Given the description of an element on the screen output the (x, y) to click on. 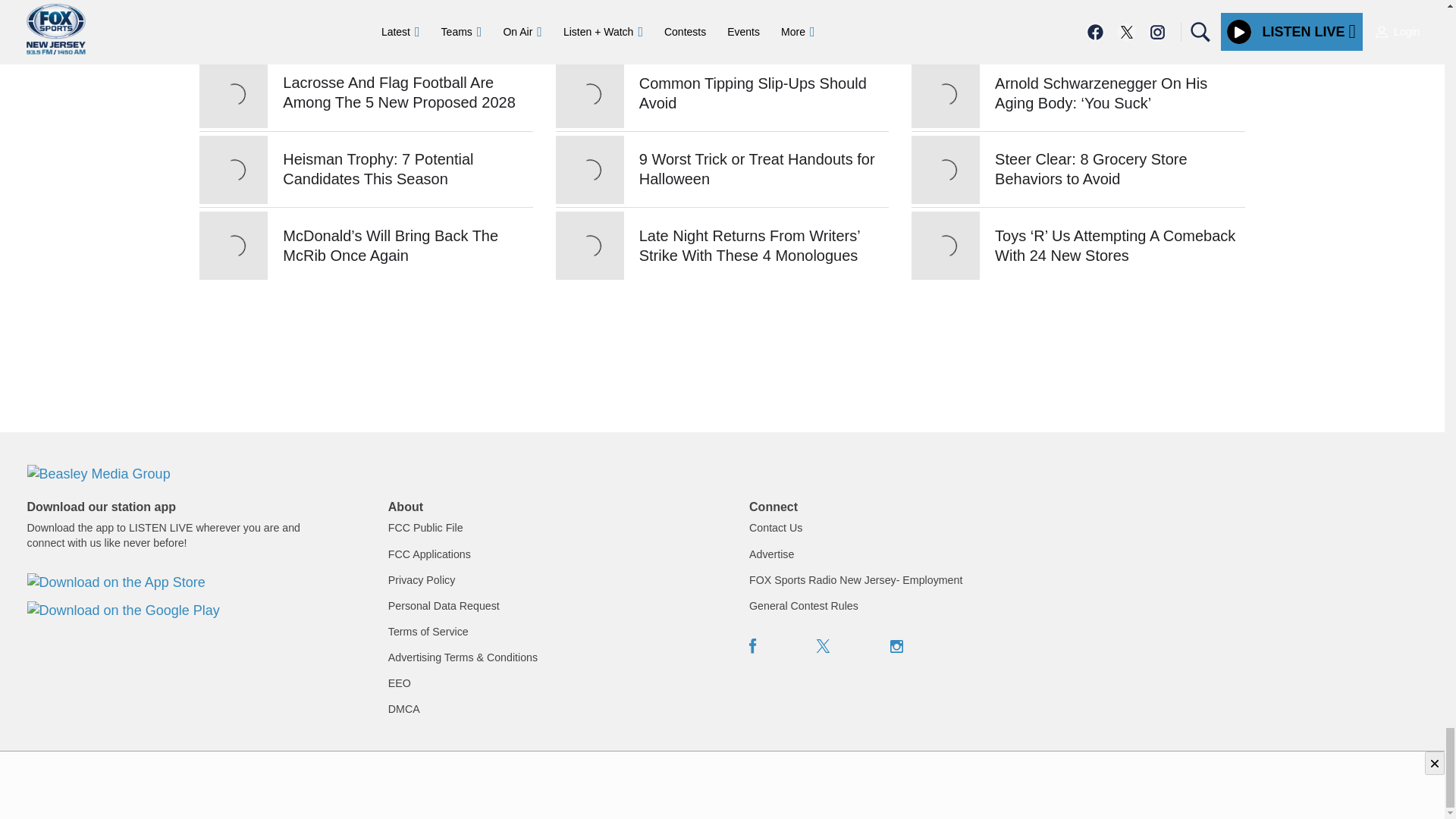
Instagram (895, 645)
Twitter (823, 645)
